Given the description of an element on the screen output the (x, y) to click on. 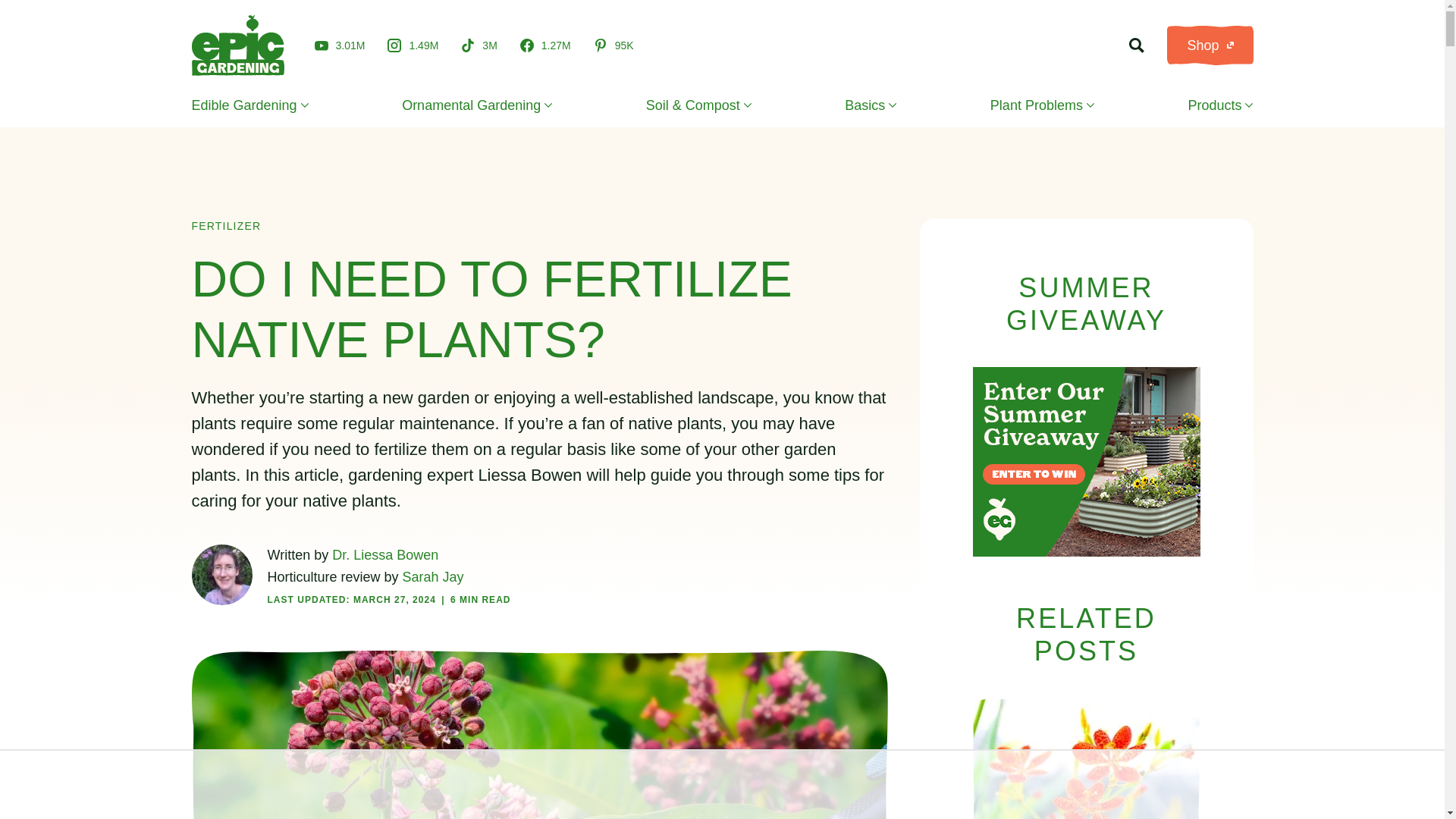
Posts by Dr. Liessa Bowen (384, 554)
Shop (1209, 45)
1.49M (412, 45)
3.01M (339, 45)
1.27M (544, 45)
Basics (870, 105)
Edible Gardening (248, 105)
Ornamental Gardening (476, 105)
3M (478, 45)
95K (613, 45)
